Given the description of an element on the screen output the (x, y) to click on. 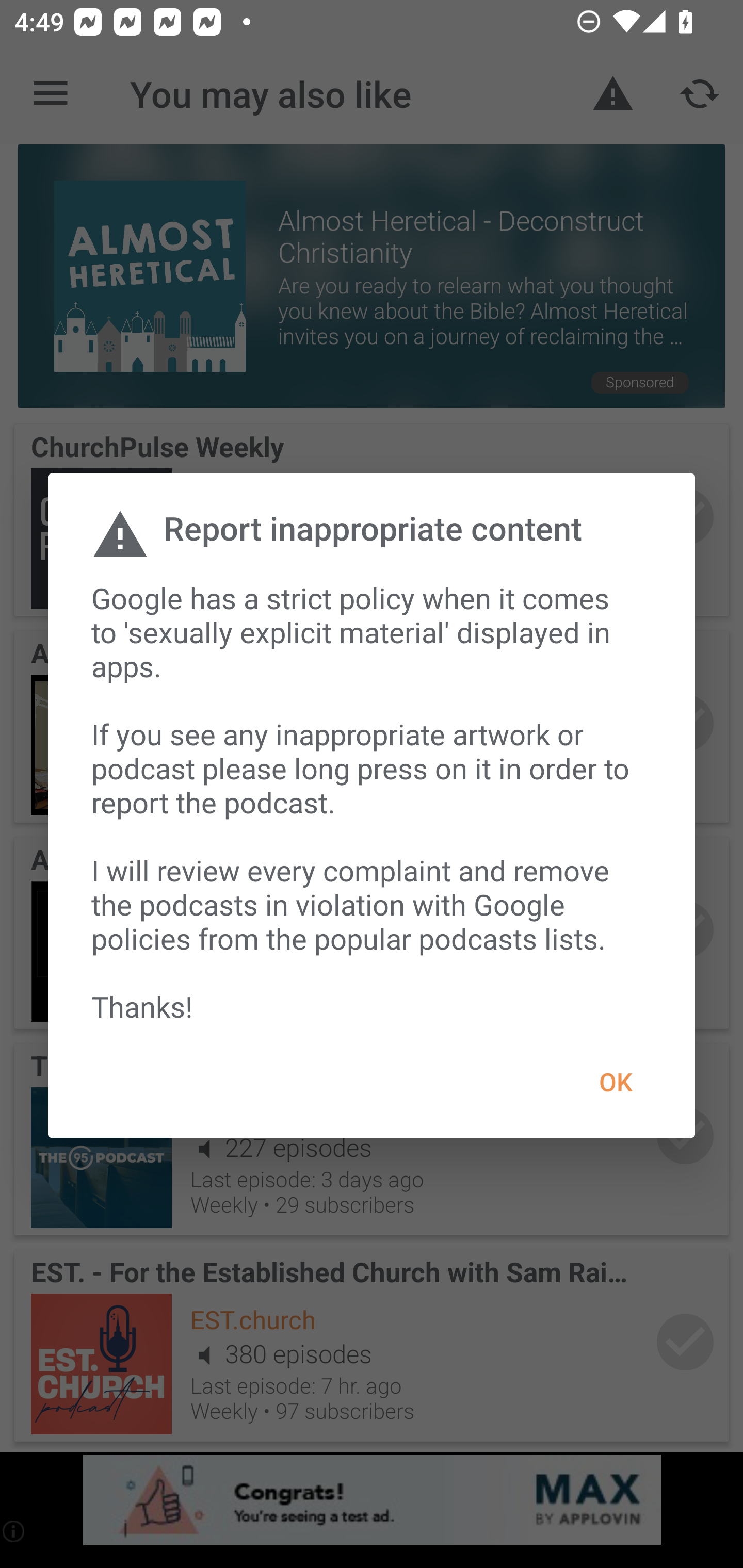
OK (615, 1081)
